Given the description of an element on the screen output the (x, y) to click on. 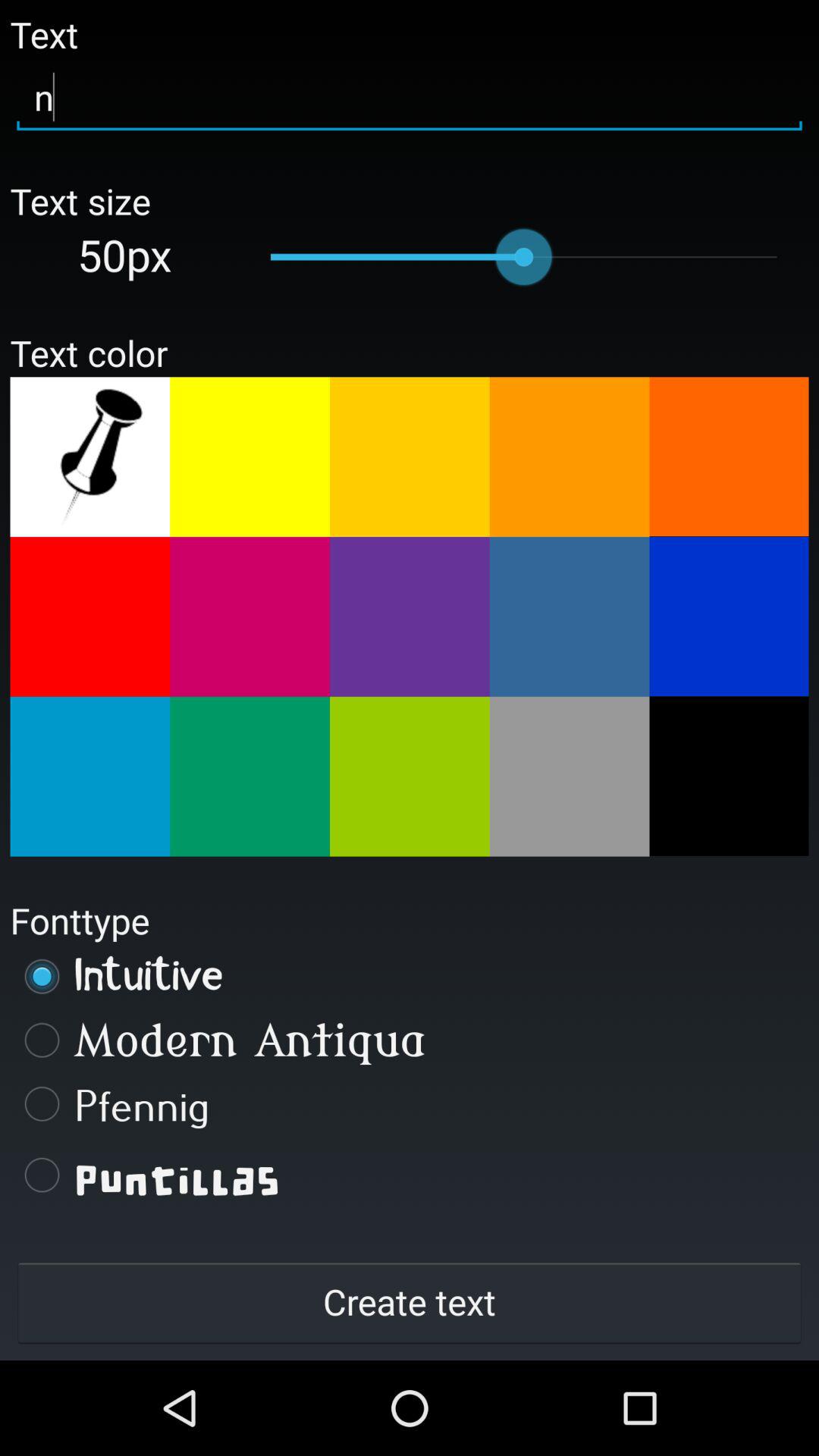
select orange (409, 456)
